Given the description of an element on the screen output the (x, y) to click on. 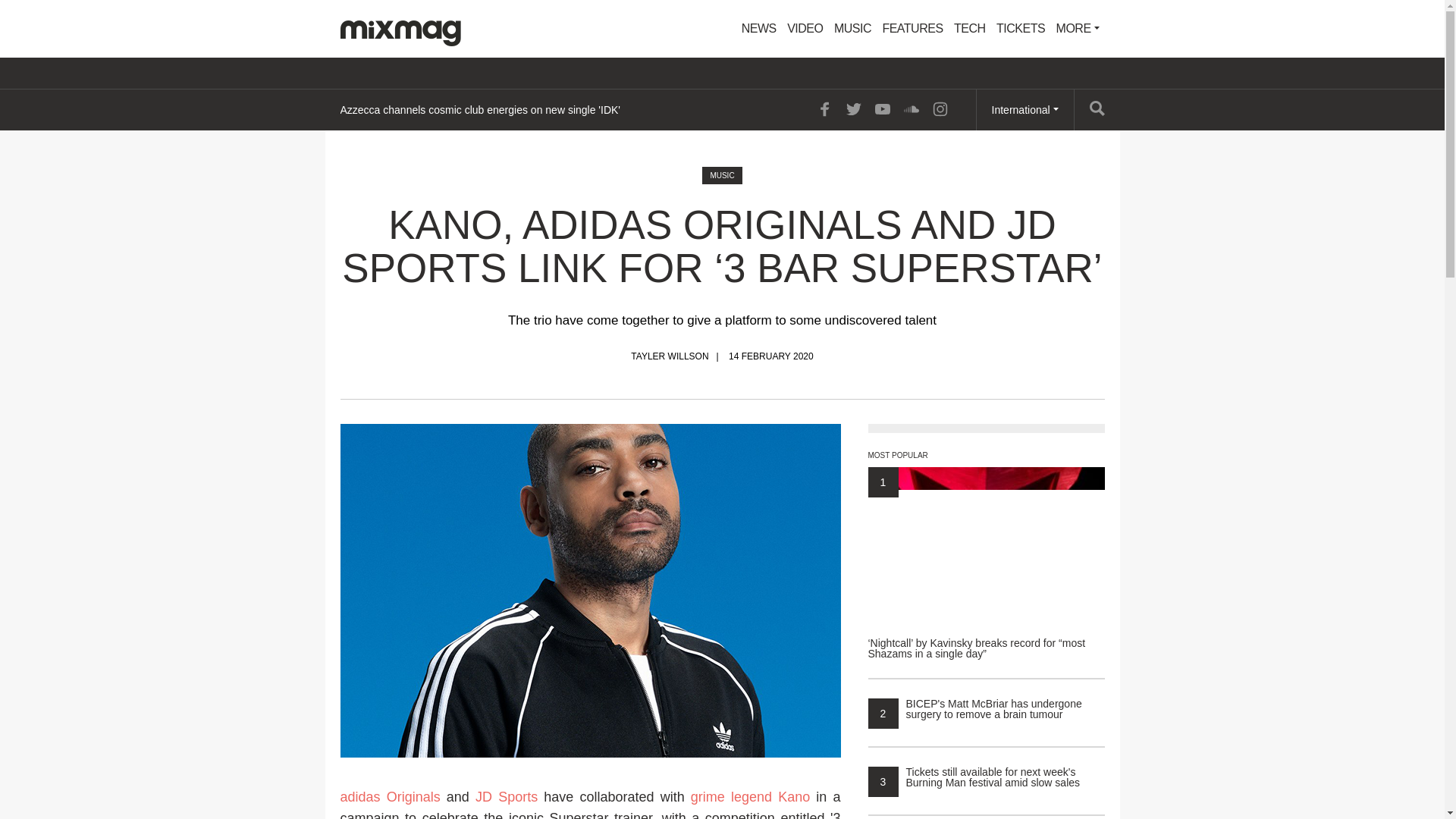
MORE (1078, 28)
TICKETS (1020, 28)
FEATURES (911, 28)
Azzecca channels cosmic club energies on new single 'IDK' (479, 109)
